Given the description of an element on the screen output the (x, y) to click on. 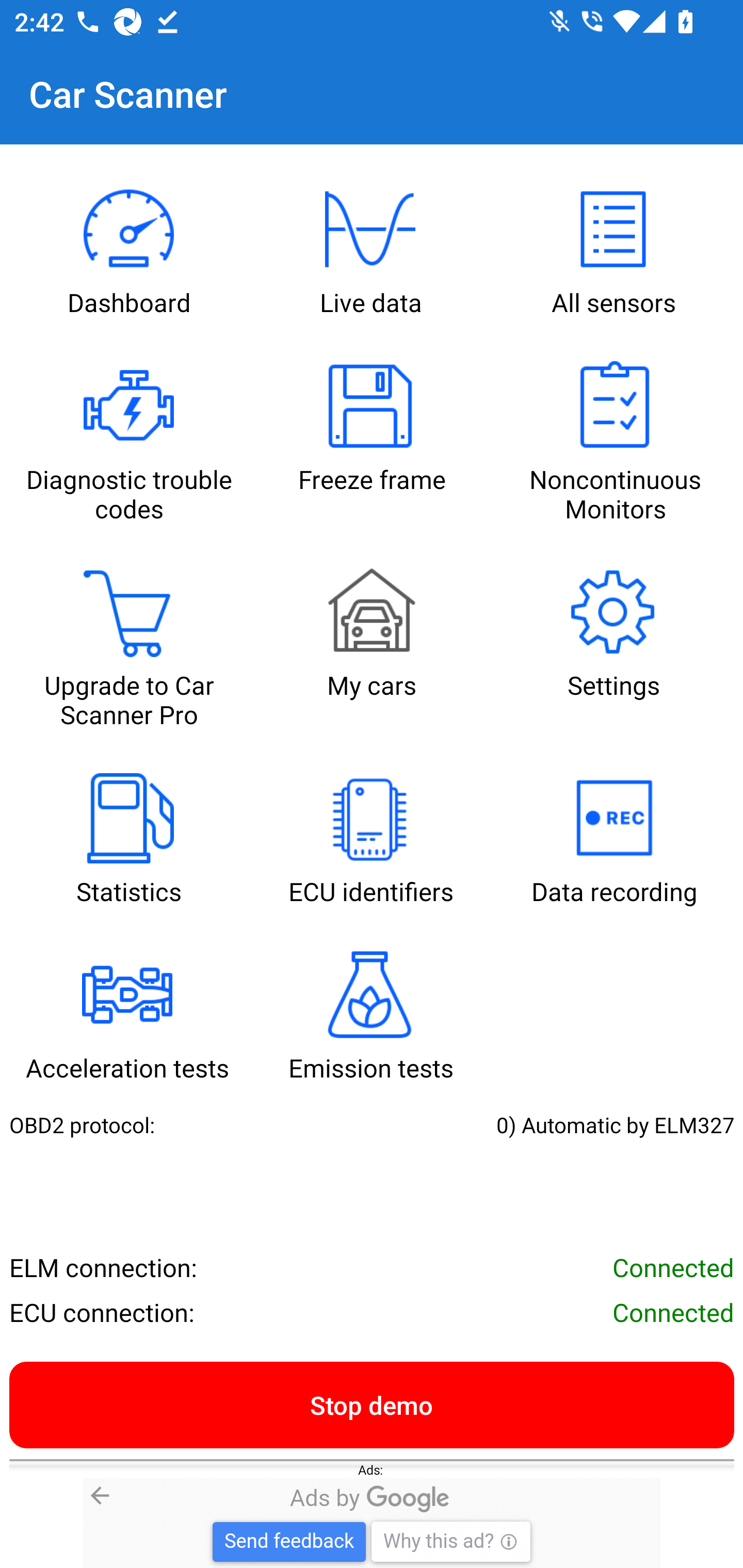
Stop demo (371, 1404)
